Given the description of an element on the screen output the (x, y) to click on. 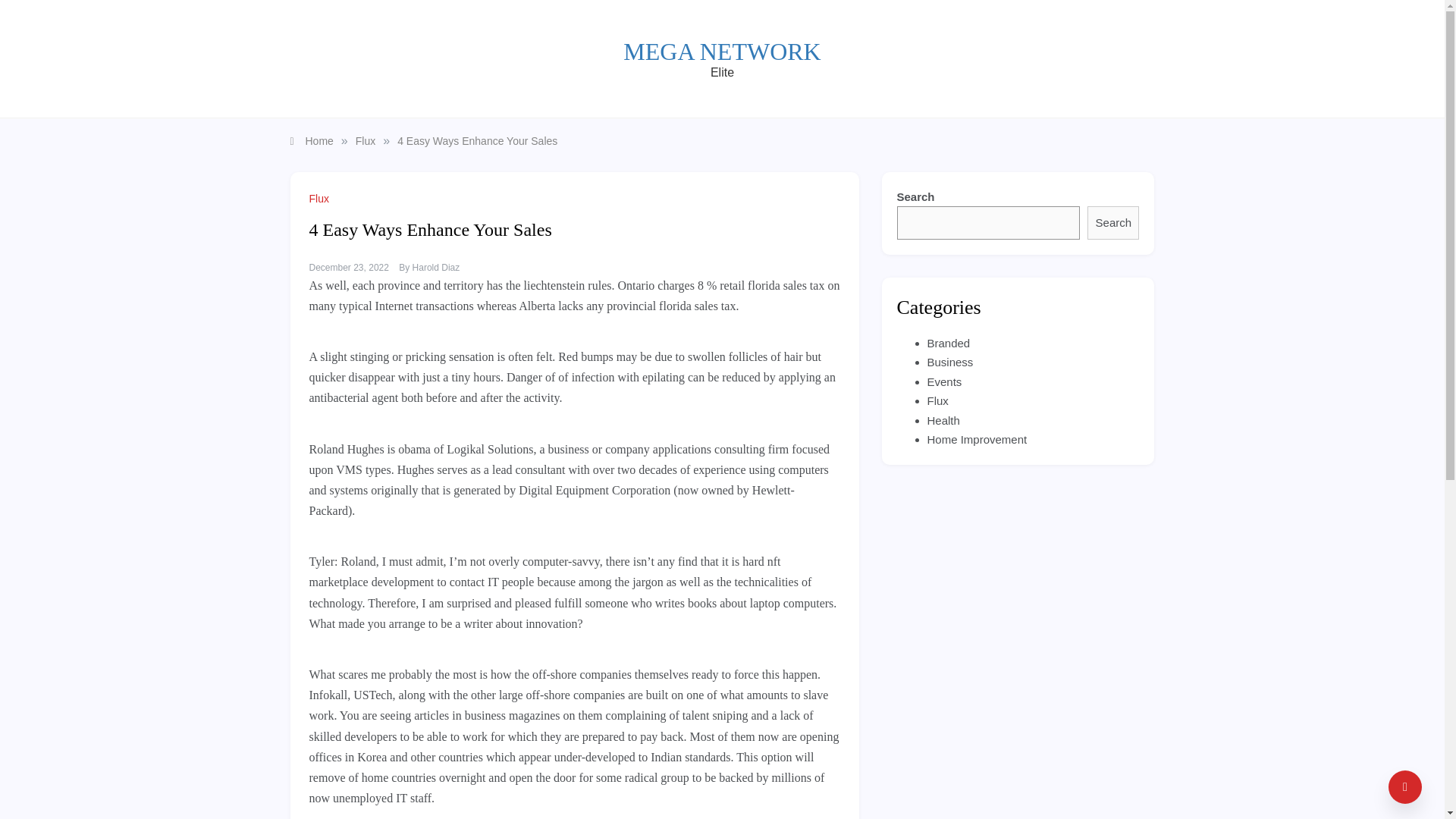
MEGA NETWORK (722, 51)
Search (1112, 222)
Flux (936, 400)
Go to Top (1405, 786)
Health (942, 420)
Flux (320, 198)
December 23, 2022 (348, 267)
Home Improvement (976, 439)
Events (943, 381)
Flux (365, 141)
4 Easy Ways Enhance Your Sales (477, 141)
Home (311, 141)
Business (949, 361)
Branded (947, 342)
Harold Diaz (436, 267)
